Given the description of an element on the screen output the (x, y) to click on. 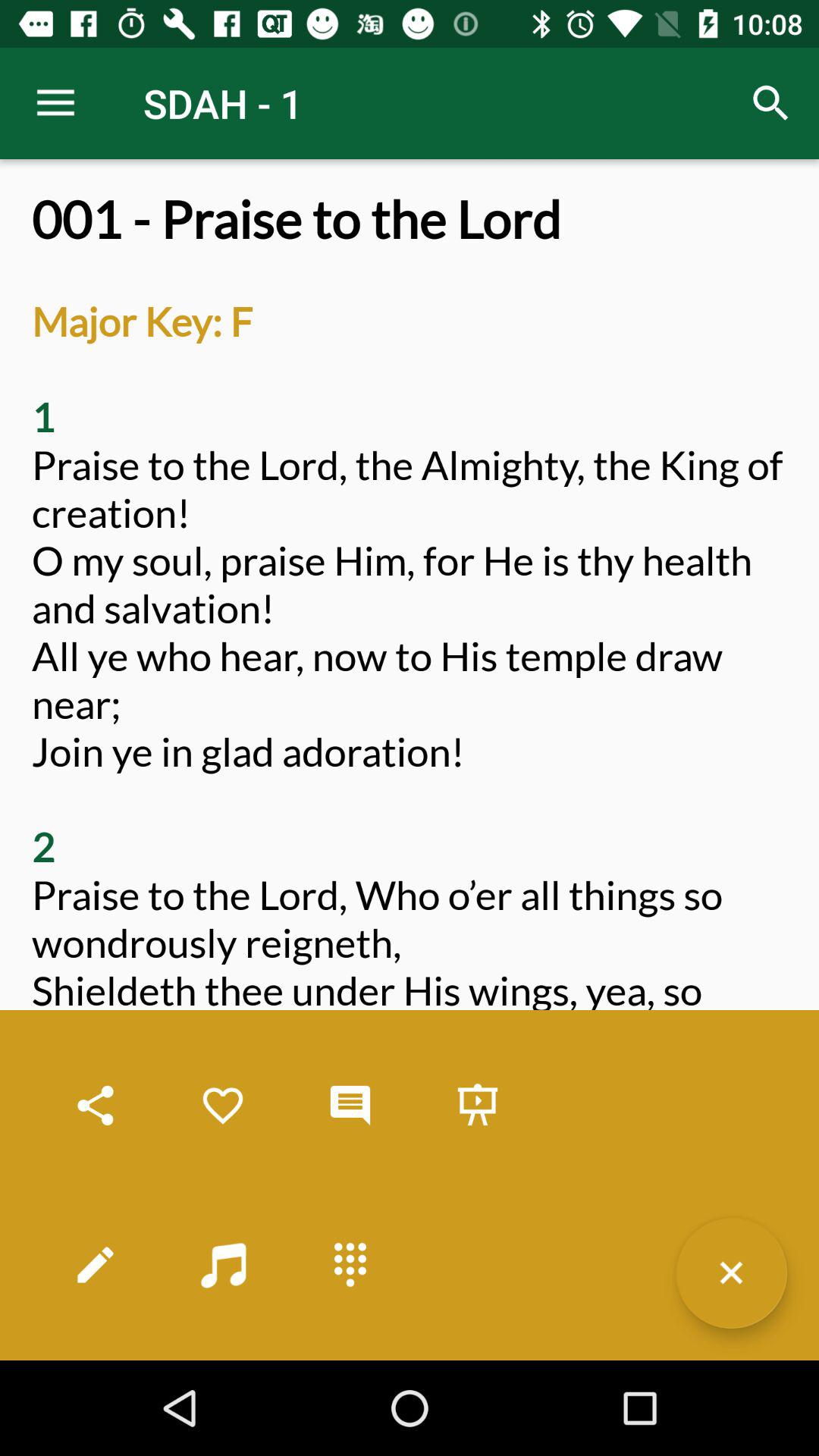
select an all other options (350, 1264)
